Given the description of an element on the screen output the (x, y) to click on. 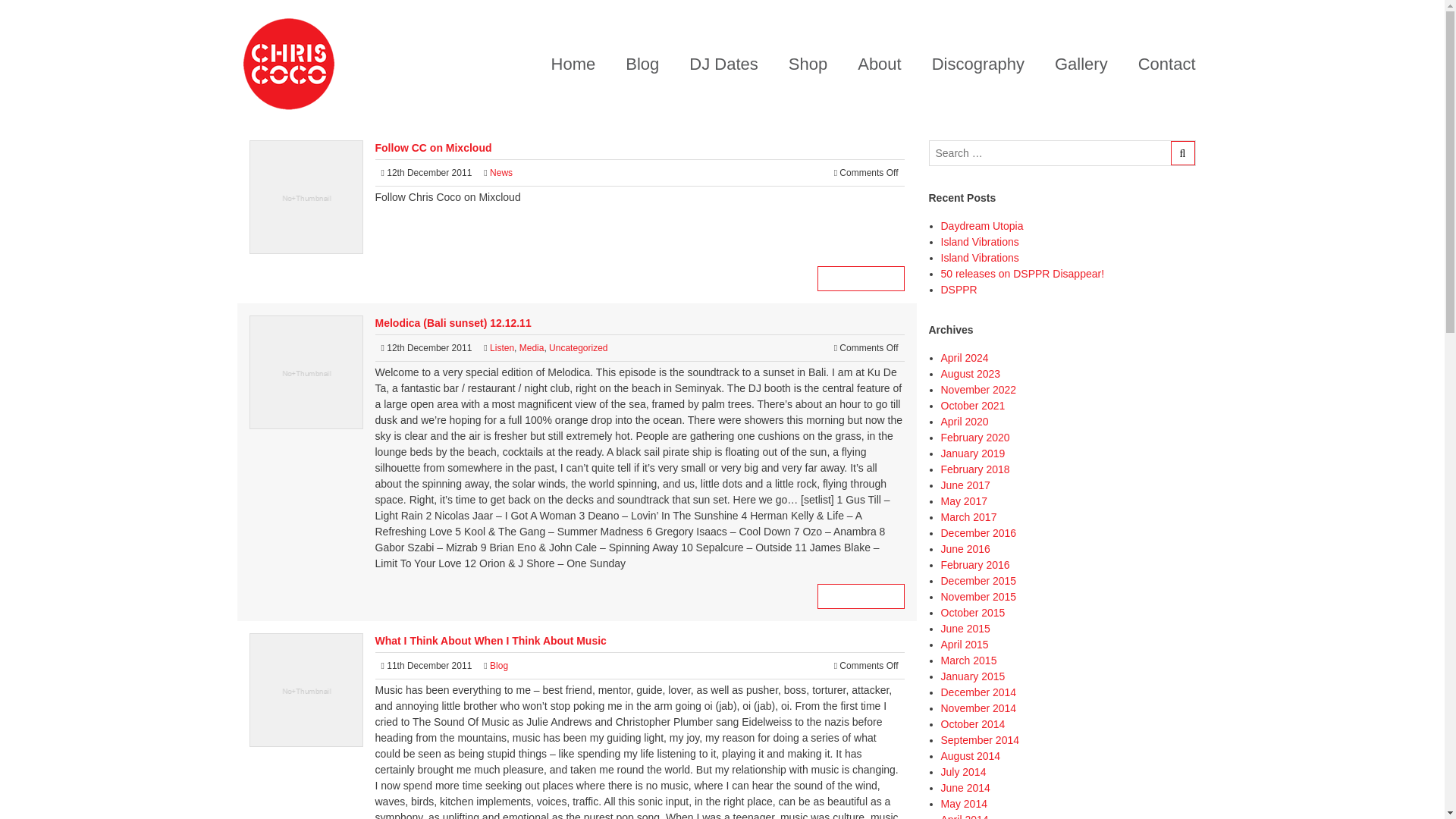
Contact (1166, 63)
What I Think About When I Think About Music (489, 640)
Chris Coco (288, 63)
Follow CC on Mixcloud (860, 278)
Home (573, 63)
Daydream Utopia (981, 225)
Home (573, 63)
What I Think About When I Think About Music (489, 640)
Read More (860, 278)
Search (1061, 153)
About (879, 63)
Island Vibrations (978, 257)
About (879, 63)
Contact (1166, 63)
Follow CC on Mixcloud (433, 147)
